Given the description of an element on the screen output the (x, y) to click on. 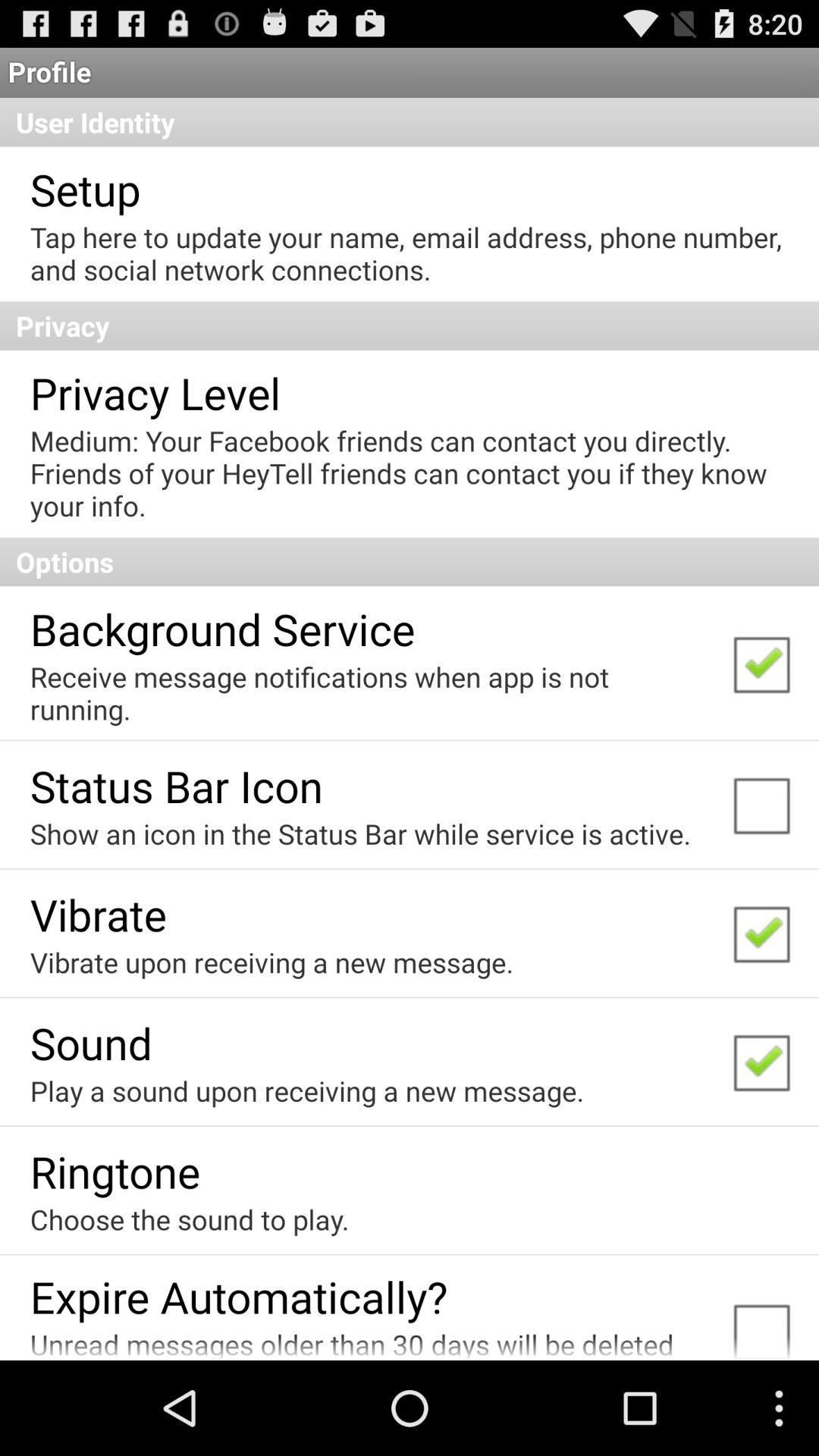
tap app below the medium your facebook item (409, 561)
